Given the description of an element on the screen output the (x, y) to click on. 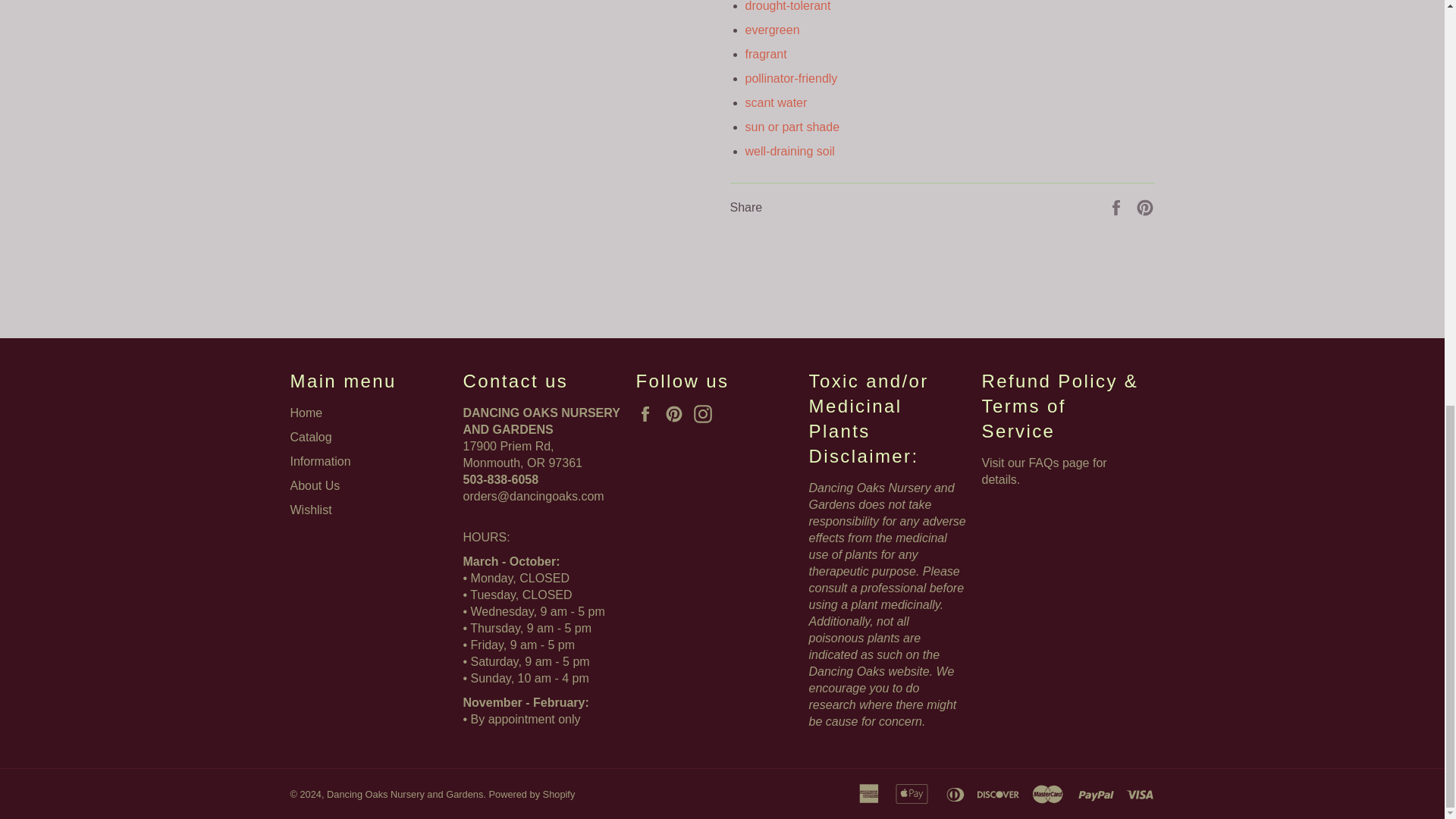
Dancing Oaks Nursery and Gardens on Instagram (706, 413)
Dancing Oaks Nursery and Gardens on Facebook (647, 413)
Share on Facebook (1117, 205)
Hours, Address, and Contact Form (533, 495)
Pin on Pinterest (1144, 205)
Dancing Oaks Nursery and Gardens on Pinterest (677, 413)
